Given the description of an element on the screen output the (x, y) to click on. 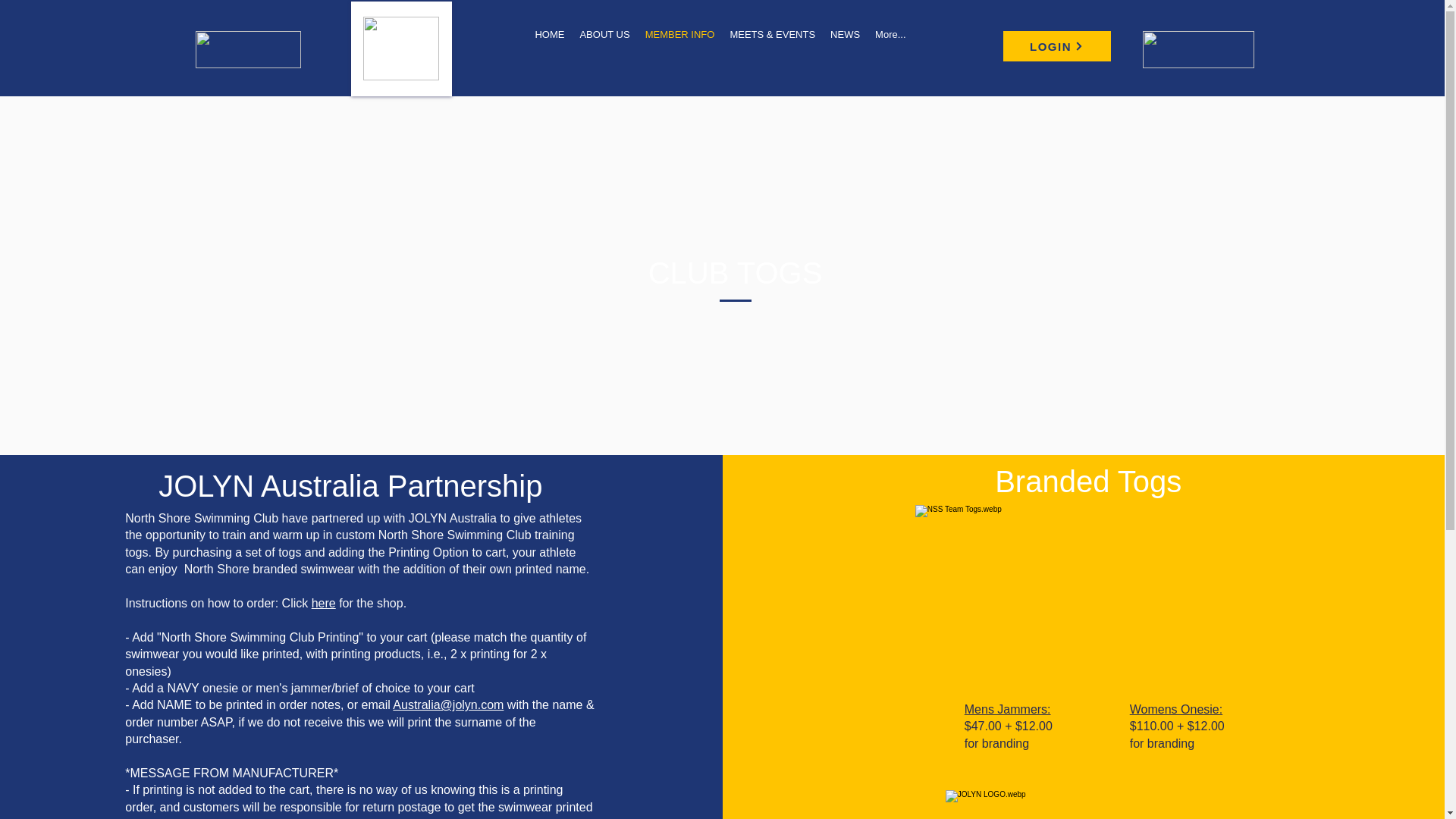
Mens Jammers: (1007, 708)
North-Shore-Swimming-Logo-NEW-NAVY.png (400, 48)
Womens Onesie: (1176, 708)
NEWS (844, 42)
HOME (549, 42)
here (323, 603)
gh-horizontal.png (248, 49)
csl-allproof-lg-col.png (1197, 49)
LOGIN (1056, 46)
MEMBER INFO (679, 42)
